Given the description of an element on the screen output the (x, y) to click on. 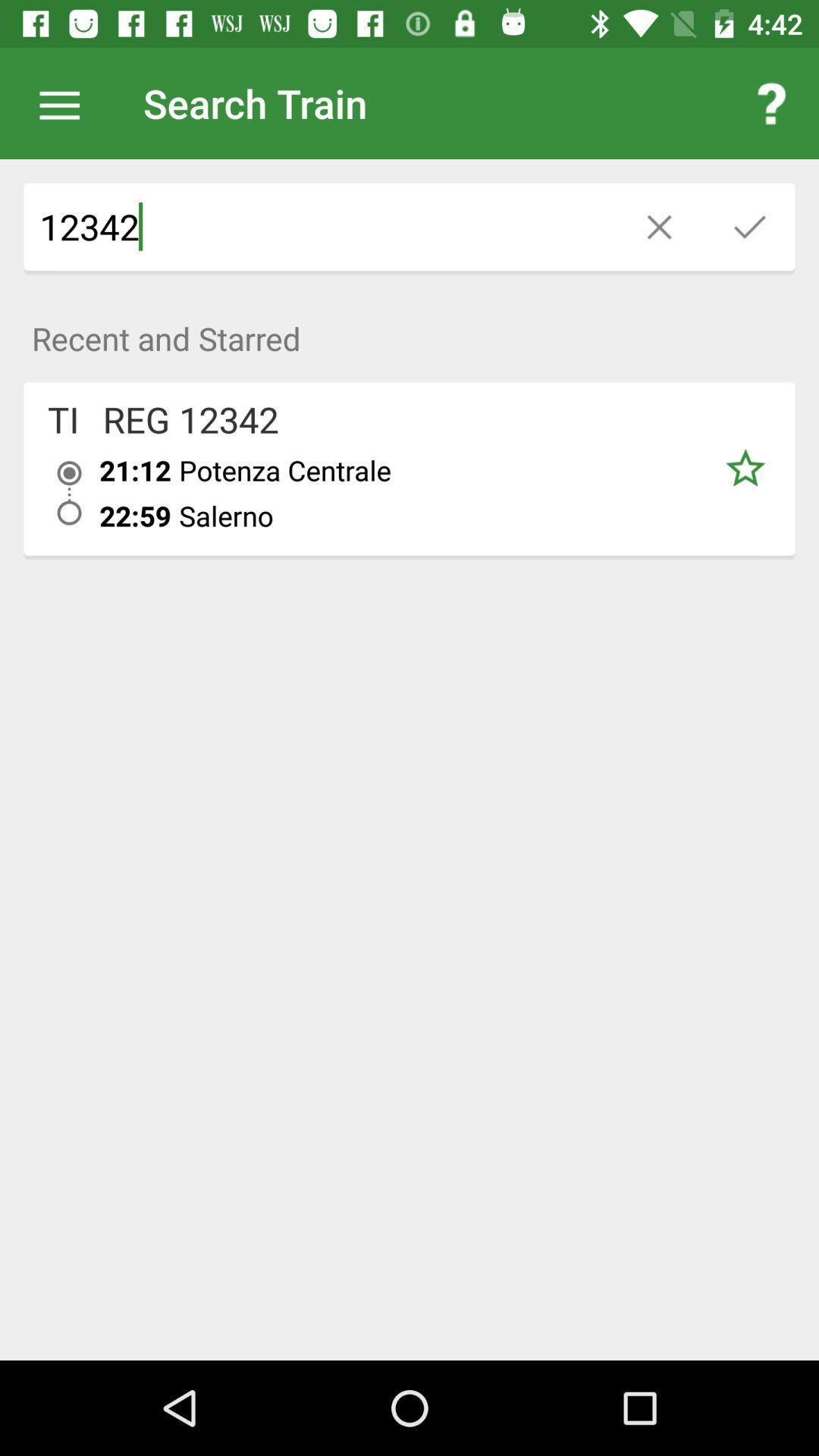
choose the item below the 21:12 icon (135, 515)
